Given the description of an element on the screen output the (x, y) to click on. 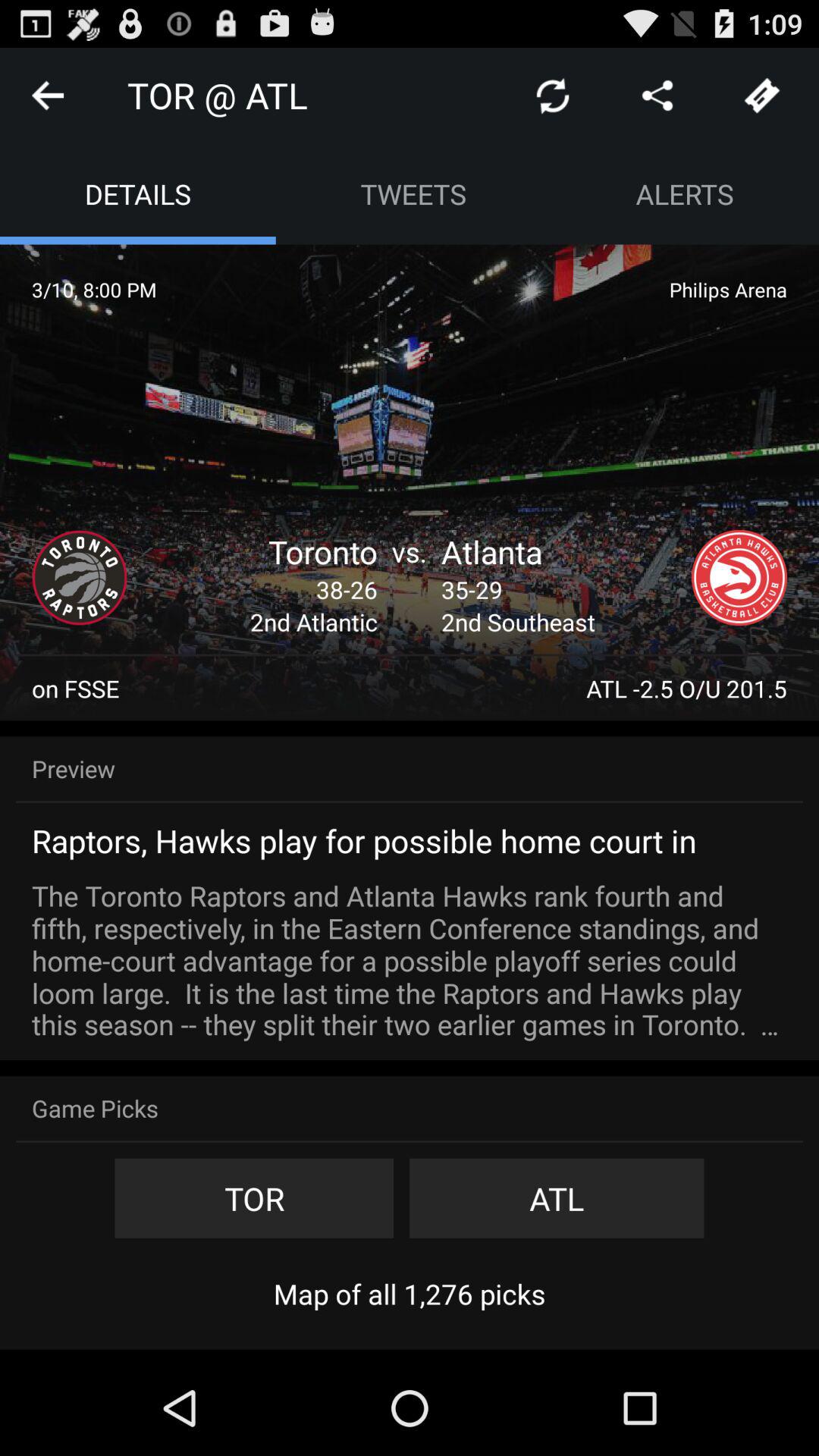
share the article (657, 95)
